Given the description of an element on the screen output the (x, y) to click on. 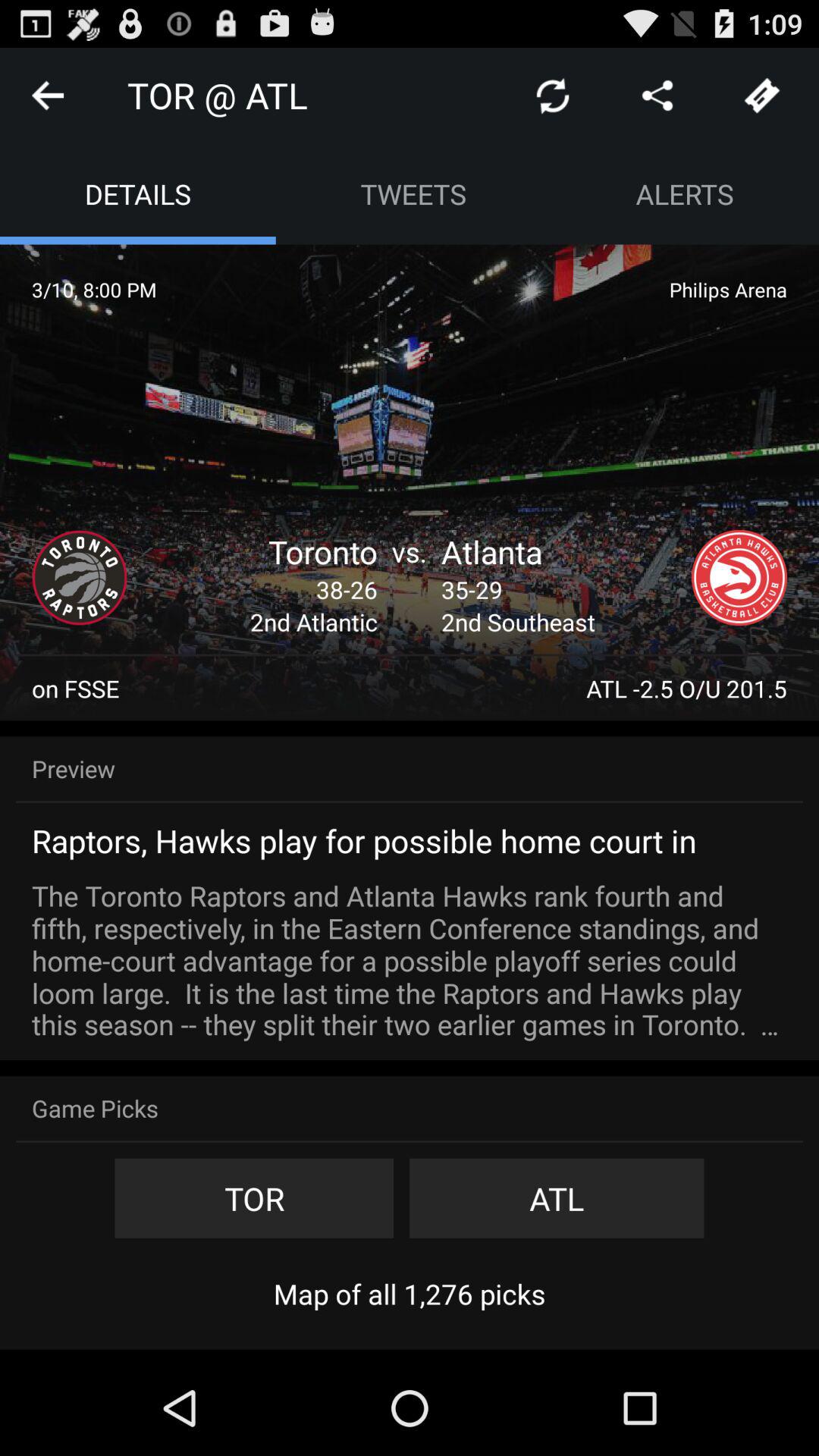
share the article (657, 95)
